Given the description of an element on the screen output the (x, y) to click on. 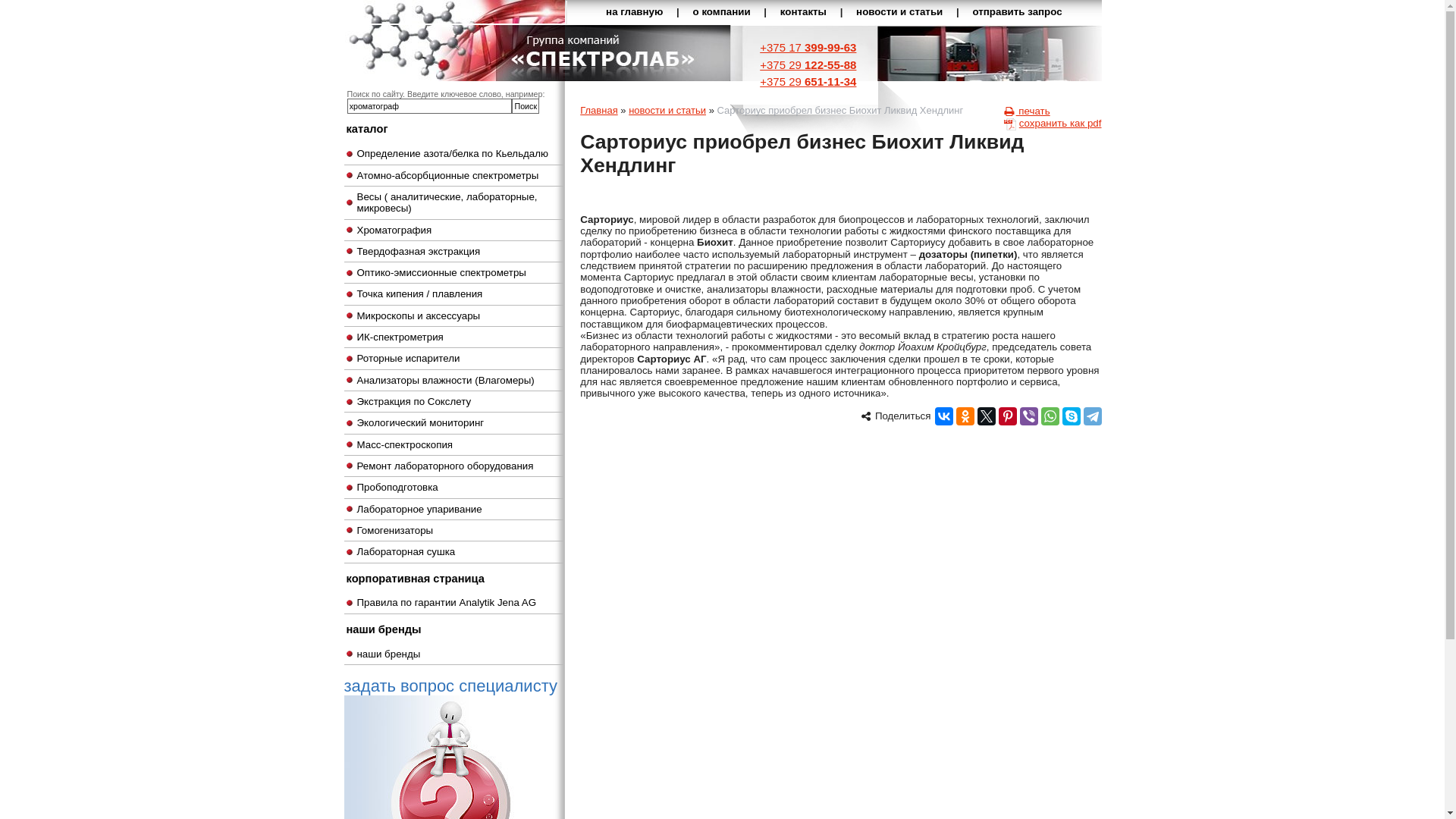
+375 29 651-11-34 Element type: text (807, 81)
Pinterest Element type: hover (1006, 416)
+375 29 122-55-88 Element type: text (807, 63)
+375 17 399-99-63 Element type: text (807, 46)
Twitter Element type: hover (985, 416)
Telegram Element type: hover (1091, 416)
Skype Element type: hover (1070, 416)
Viber Element type: hover (1028, 416)
WhatsApp Element type: hover (1049, 416)
